Given the description of an element on the screen output the (x, y) to click on. 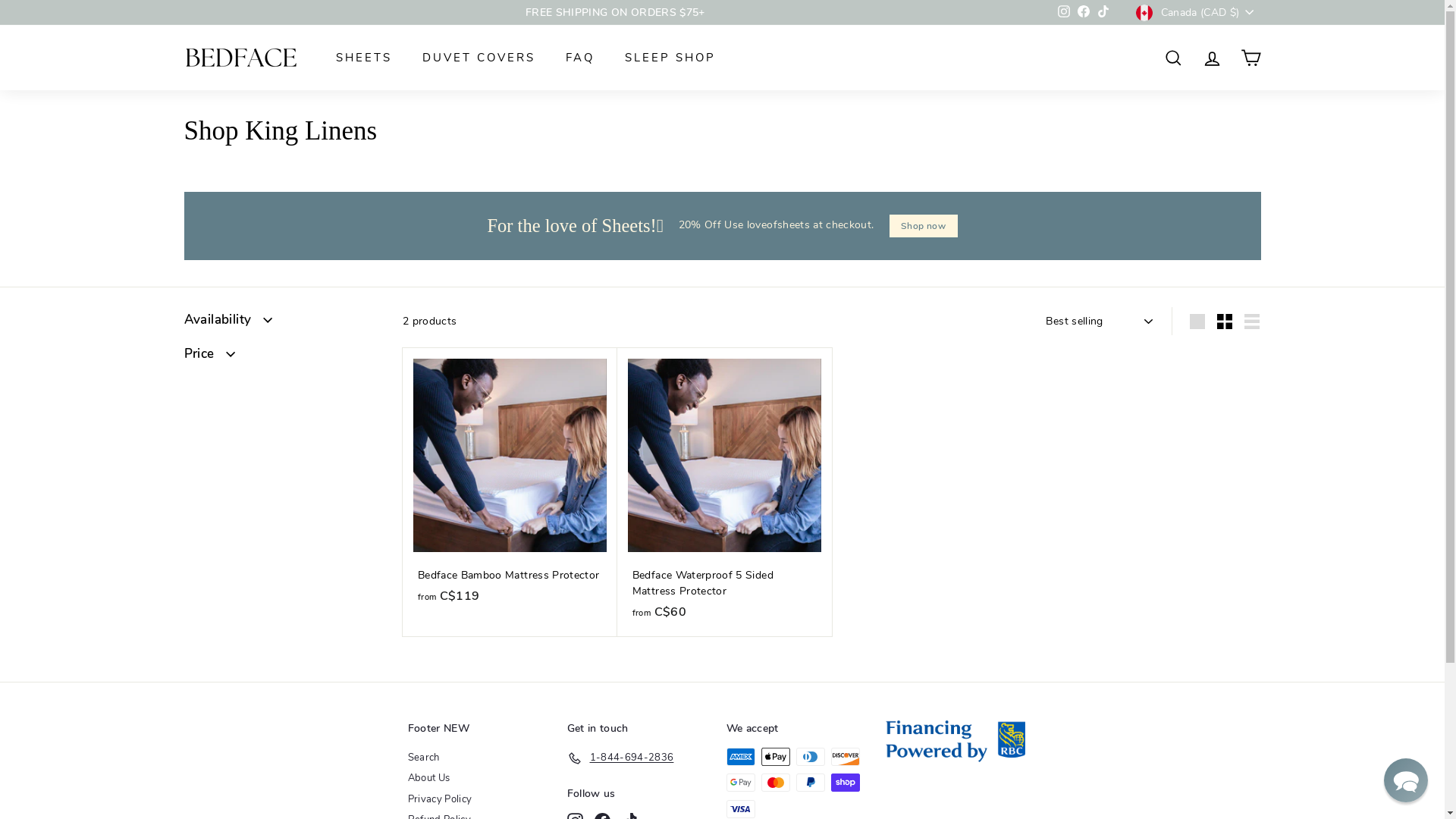
Instagram Element type: text (1063, 12)
FAQ Element type: text (579, 57)
Small Element type: text (1224, 321)
SHEETS Element type: text (363, 57)
Large Element type: text (1197, 321)
List Element type: text (1251, 321)
Bedface Bamboo Mattress Protector
from C$119
C$119 Element type: text (509, 484)
Canada (CAD $) Element type: text (1197, 12)
DUVET COVERS Element type: text (477, 57)
SEARCH Element type: text (1173, 56)
Facebook Element type: text (1083, 12)
SLEEP SHOP Element type: text (670, 57)
About Us Element type: text (428, 778)
Price Element type: text (280, 357)
Privacy Policy Element type: text (439, 799)
Availability Element type: text (280, 323)
Search Element type: text (423, 757)
ACCOUNT Element type: text (1211, 56)
Bedface Waterproof 5 Sided Mattress Protector
from C$60
C$60 Element type: text (724, 492)
TikTok Element type: text (1103, 12)
1-844-694-2836 Element type: text (620, 757)
